Given the description of an element on the screen output the (x, y) to click on. 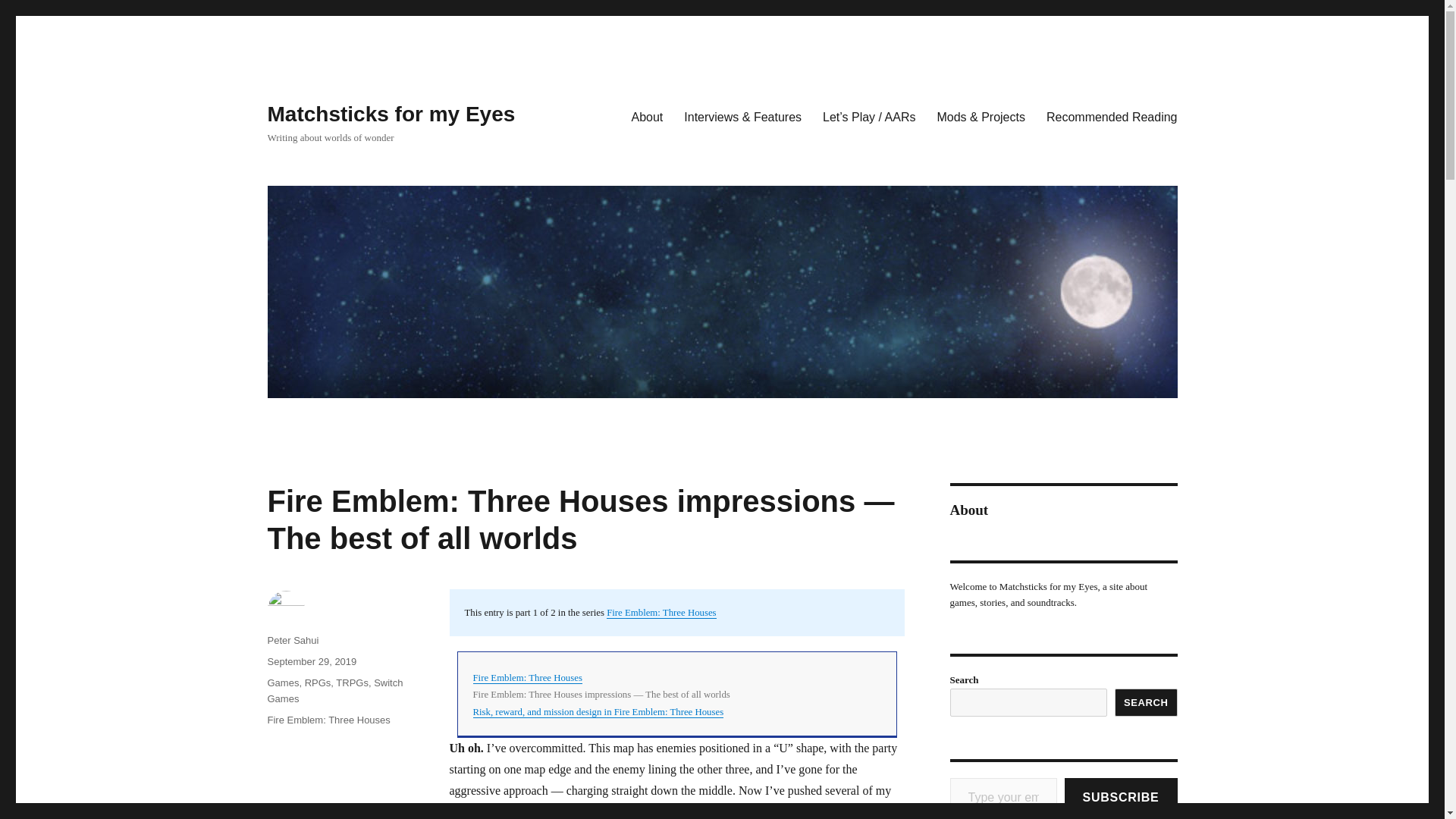
Peter Sahui (292, 640)
Please fill in this field. (1003, 798)
Fire Emblem: Three Houses (661, 612)
Fire Emblem: Three Houses (527, 677)
About (646, 116)
Fire Emblem: Three Houses (328, 719)
Fire Emblem: Three Houses (527, 677)
Switch Games (334, 690)
SUBSCRIBE (1120, 798)
Recommended Reading (1111, 116)
September 29, 2019 (311, 661)
Fire Emblem: Three Houses (661, 612)
Games (282, 682)
SEARCH (1146, 702)
